Given the description of an element on the screen output the (x, y) to click on. 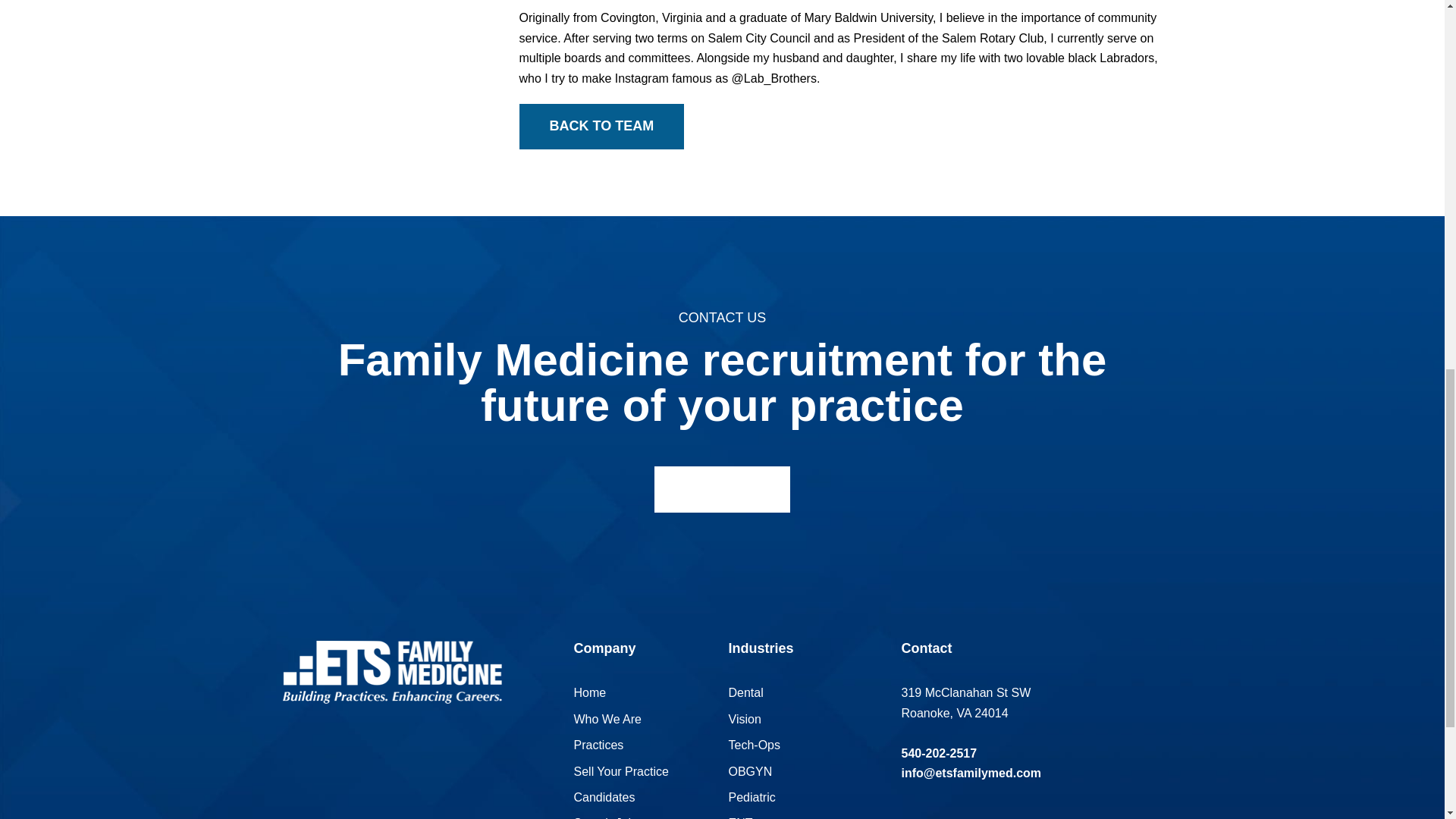
Sell Your Practice (620, 771)
Tech-Ops (753, 744)
Practices (598, 744)
Search Jobs (606, 817)
BACK TO TEAM (601, 126)
Home (589, 692)
Dental (745, 692)
ETS Family Medicine (391, 671)
Who We Are (607, 718)
Vision (744, 718)
CONTACT US (721, 489)
Candidates (603, 797)
ENT (740, 817)
Pediatric (751, 797)
OBGYN (749, 771)
